Given the description of an element on the screen output the (x, y) to click on. 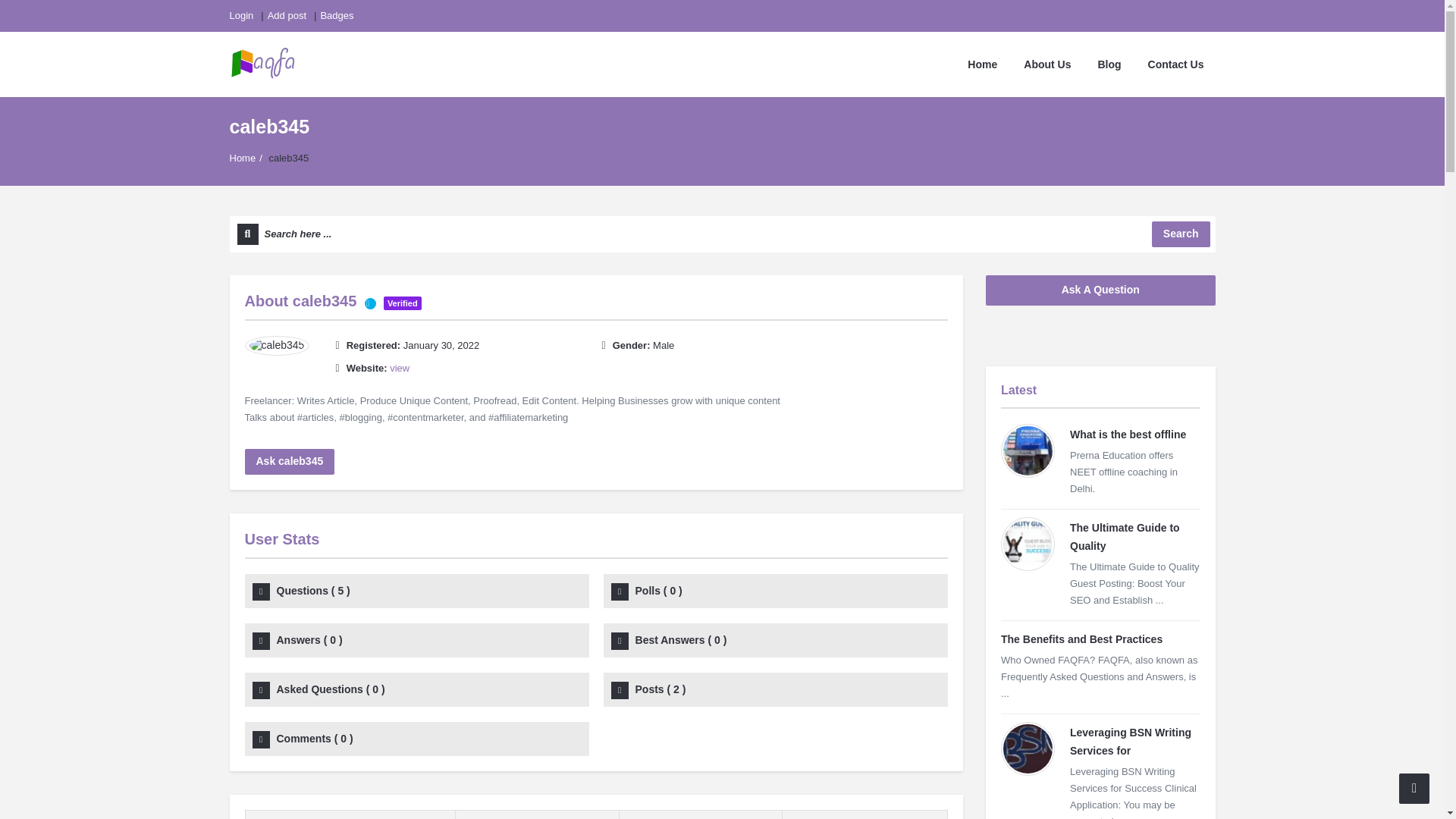
Leveraging BSN Writing Services for Success (1130, 741)
Verified (370, 303)
Search here ... (721, 234)
What is the best offline NEET coaching in Delhi? (1027, 450)
The Benefits and Best Practices of FAQFA (1081, 639)
Leveraging BSN Writing Services for Success (1027, 748)
What is the best offline NEET coaching in Delhi? (1128, 434)
Search here ... (721, 234)
